Given the description of an element on the screen output the (x, y) to click on. 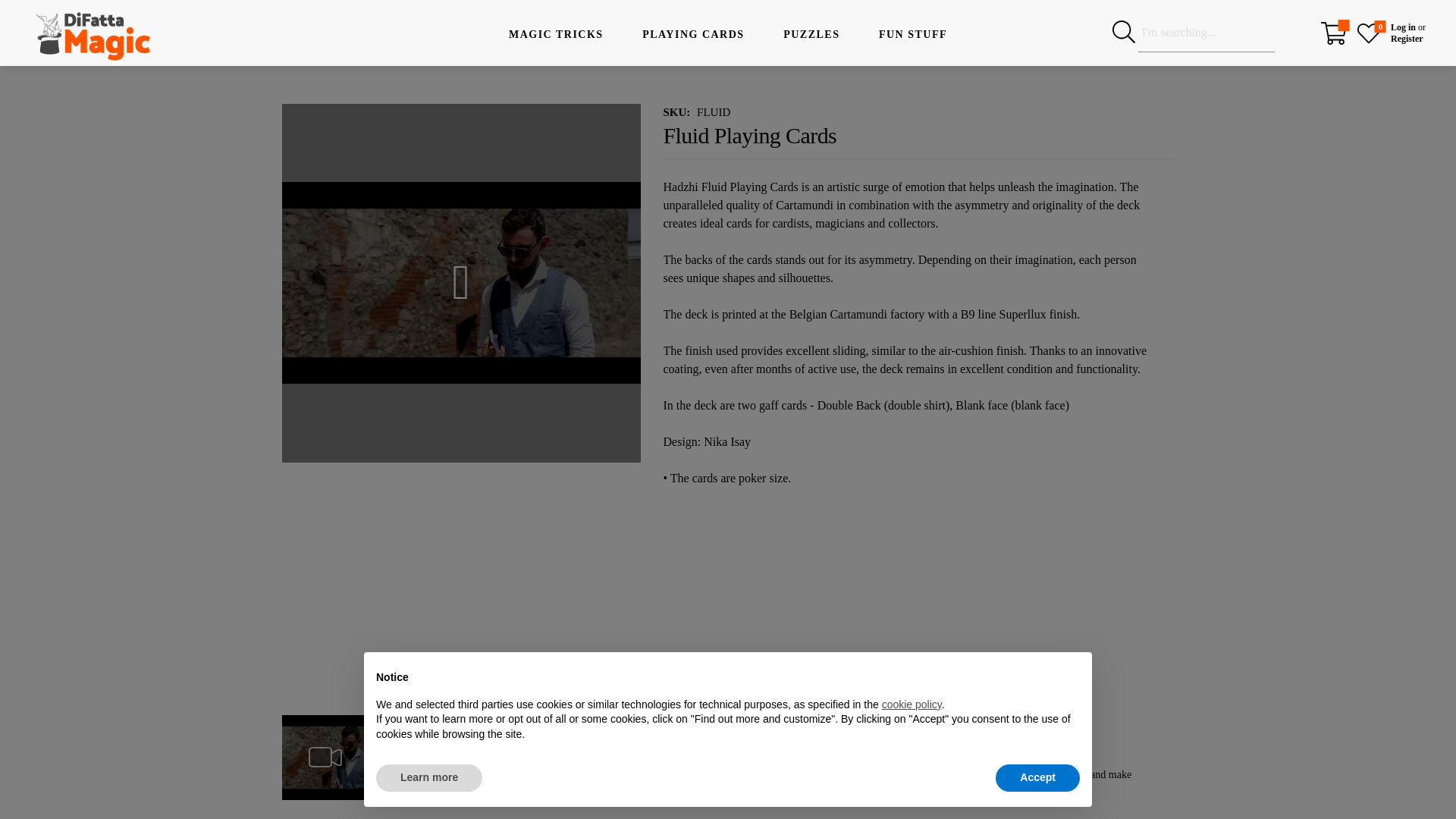
PLAYING CARDS (693, 26)
MAGIC TRICKS (555, 26)
Wishlist (1368, 30)
Cart (1333, 32)
log in (1018, 774)
FUN STUFF (1407, 32)
PUZZLES (912, 26)
